Given the description of an element on the screen output the (x, y) to click on. 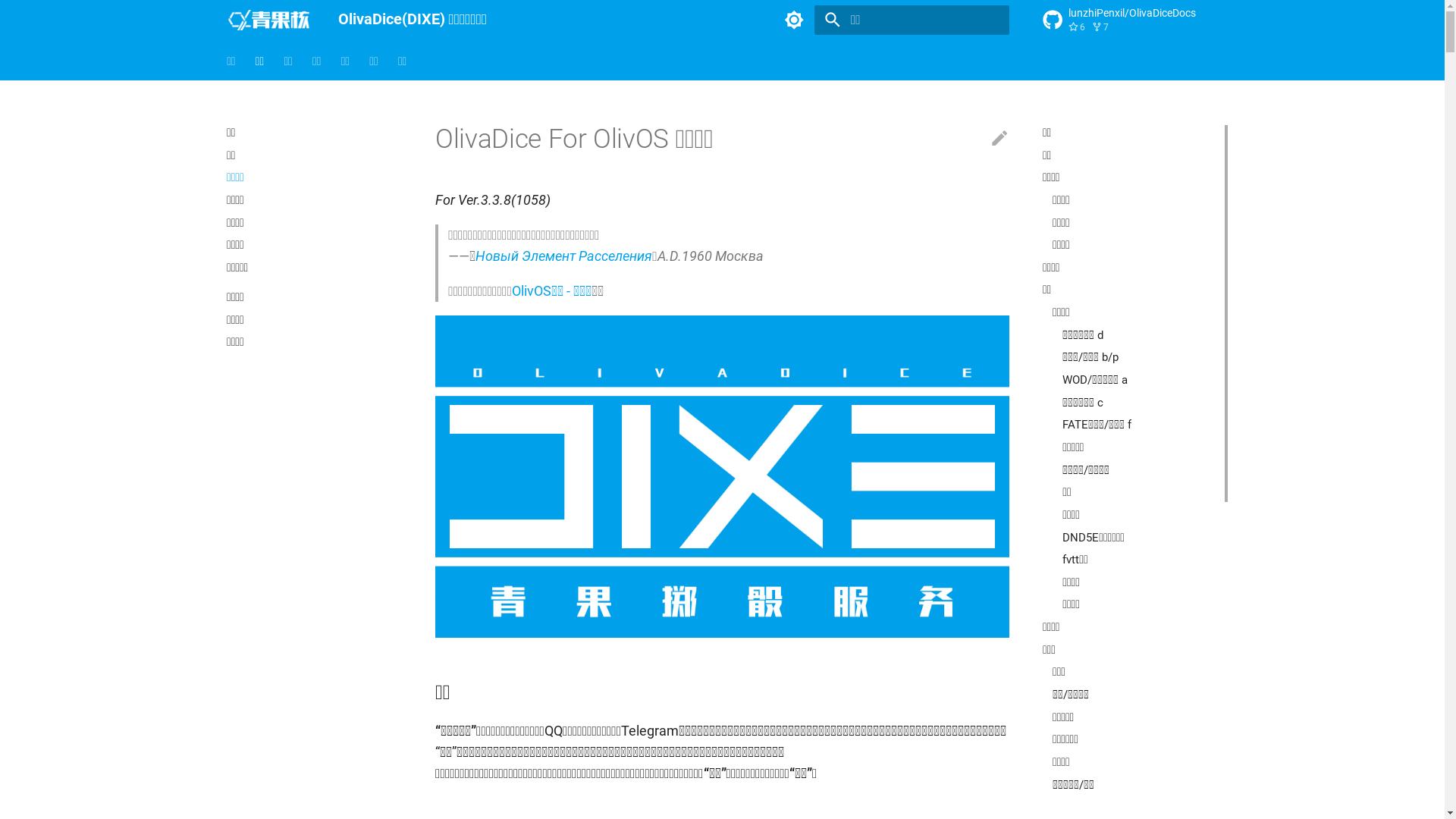
Switch to dark mode Element type: hover (793, 19)
lunzhiPenxil/OlivaDiceDocs
6
7 Element type: text (1129, 20)
